Given the description of an element on the screen output the (x, y) to click on. 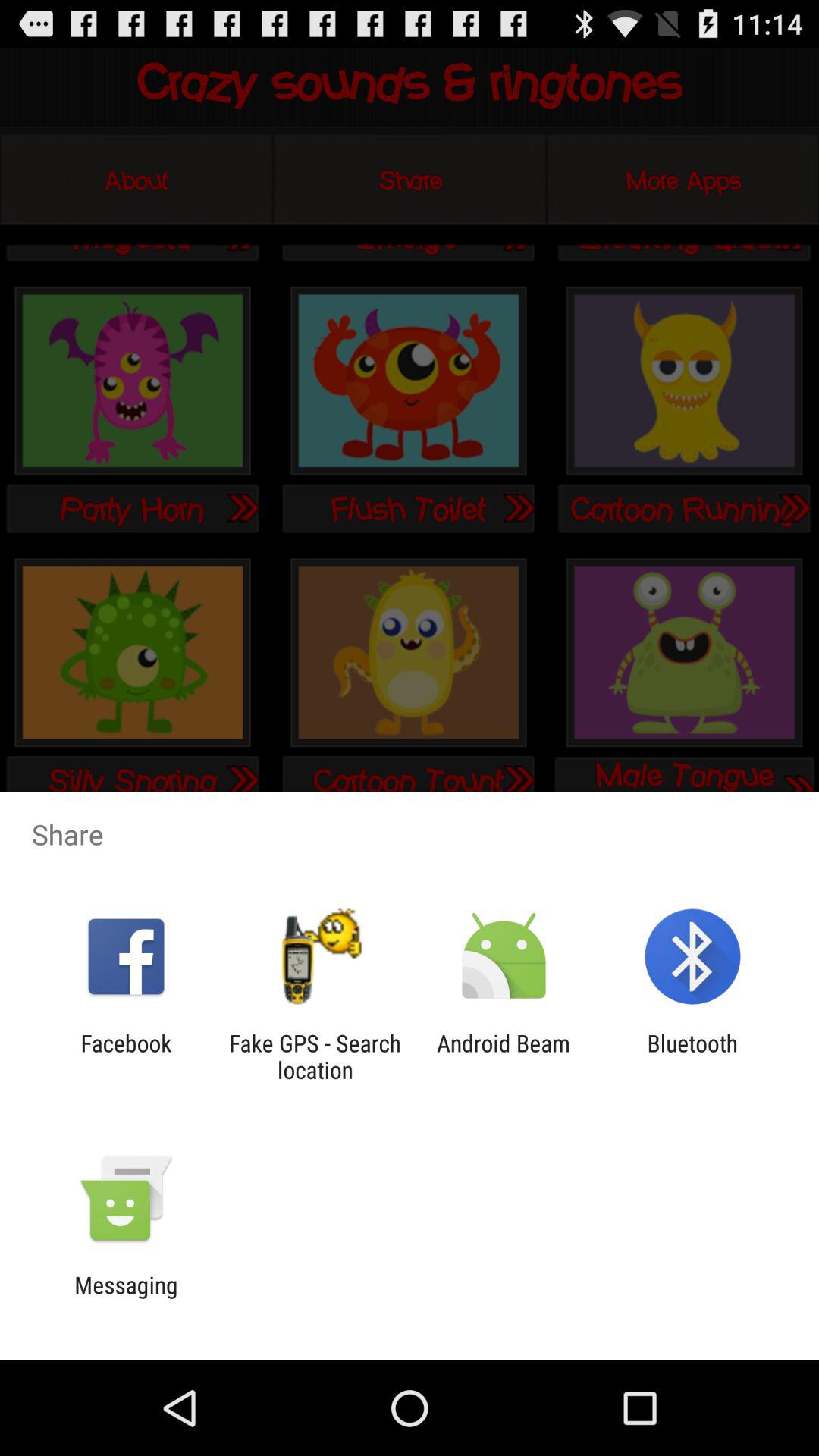
turn on facebook (125, 1056)
